Given the description of an element on the screen output the (x, y) to click on. 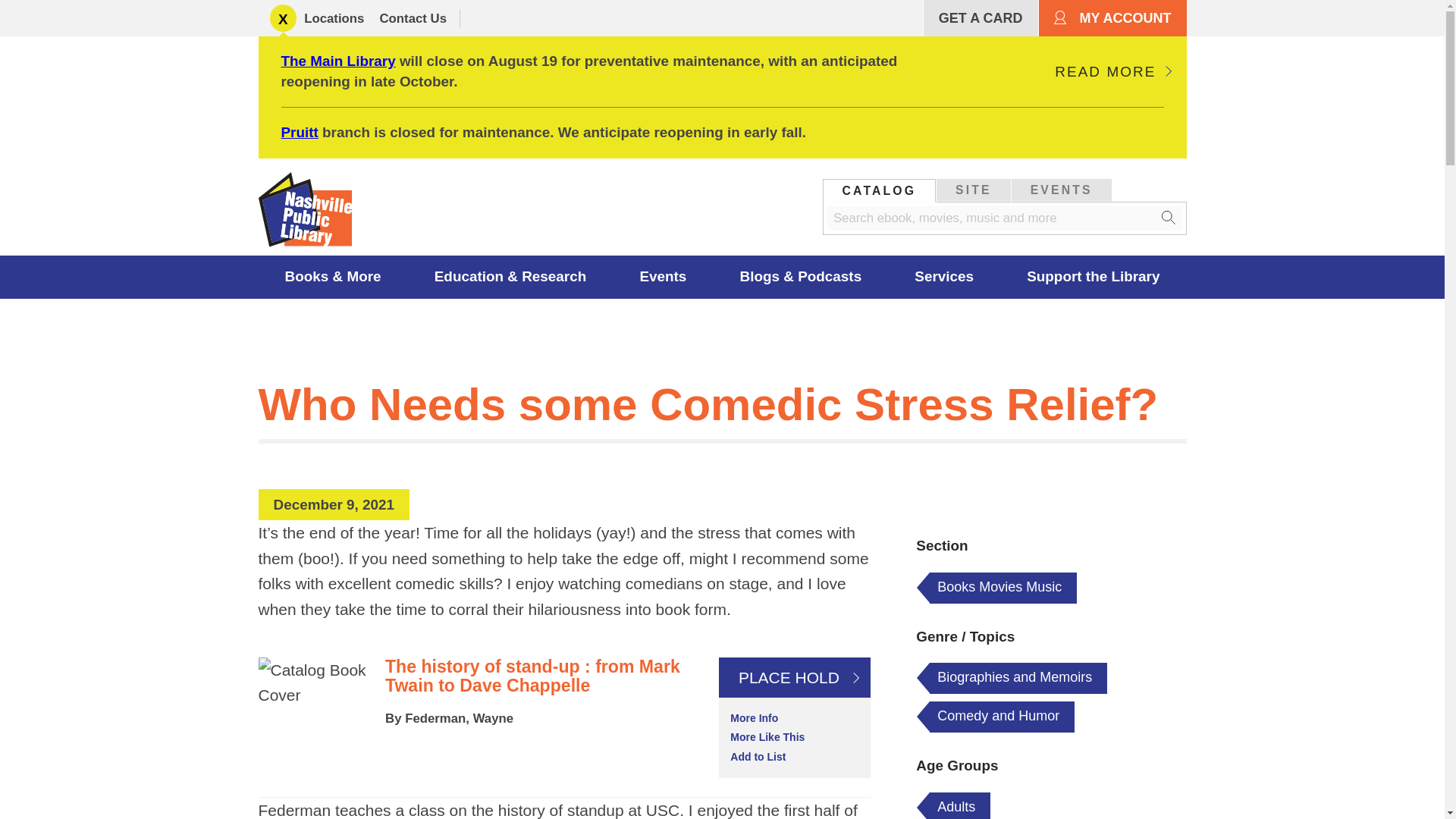
MY ACCOUNT (1112, 18)
Events (662, 276)
Pruitt (299, 132)
Locations (334, 18)
Services (944, 276)
GET A CARD (980, 18)
EVENTS (1061, 189)
Toggle alerts (283, 17)
Support the Library (1093, 276)
